Given the description of an element on the screen output the (x, y) to click on. 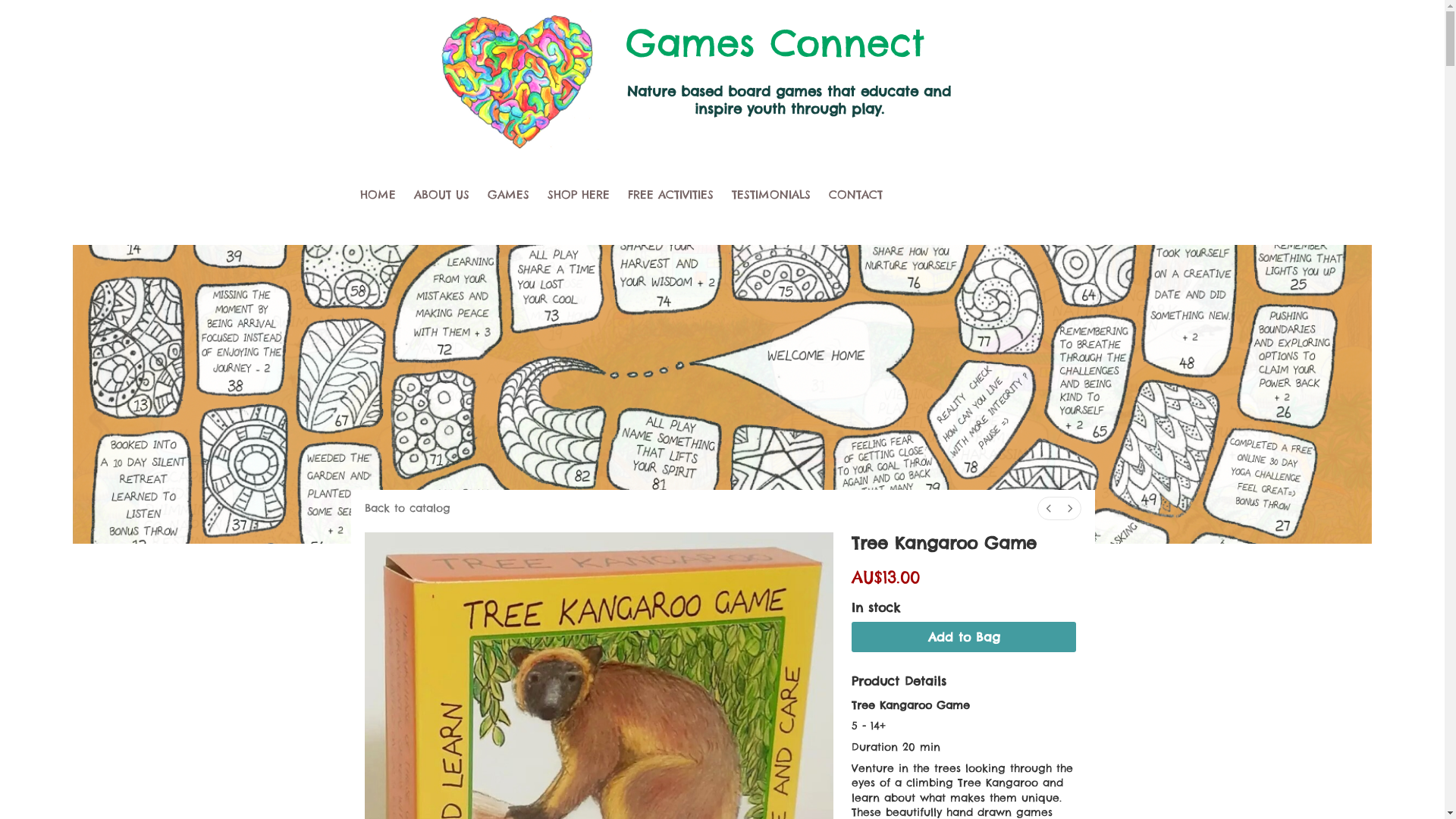
HOME Element type: text (377, 194)
ABOUT US Element type: text (441, 194)
SHOP HERE Element type: text (578, 194)
Edited Image 2015-4-20-21:6:45 2015-4-20-21:18:36 Element type: hover (516, 77)
FREE ACTIVITIES Element type: text (670, 194)
CONTACT Element type: text (855, 194)
TESTIMONIALS Element type: text (770, 194)
GAMES Element type: text (507, 194)
